Given the description of an element on the screen output the (x, y) to click on. 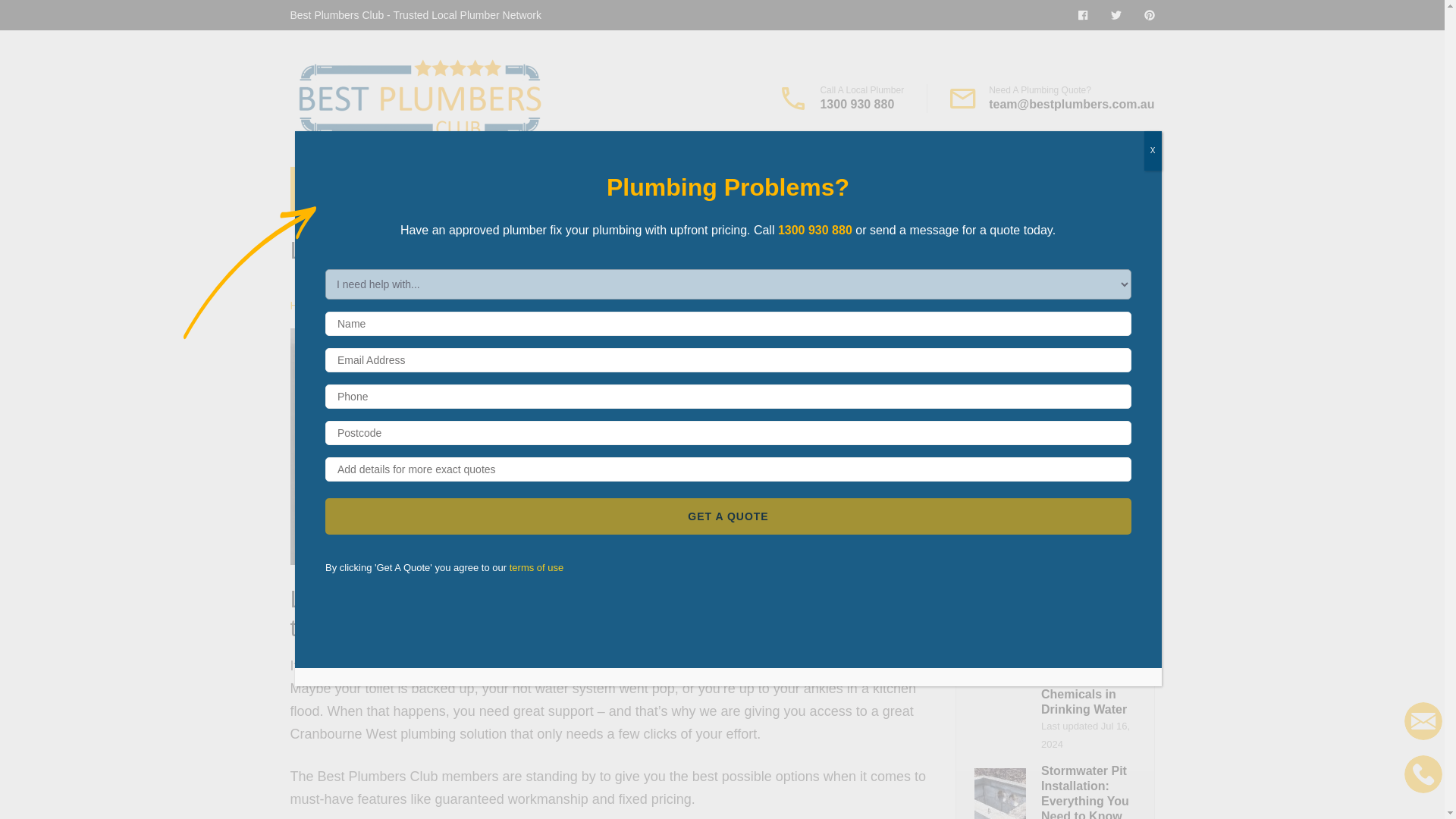
fab fa-facebook (1082, 15)
fab fa-twitter (1115, 15)
fab fa-pinterest (1148, 15)
